Given the description of an element on the screen output the (x, y) to click on. 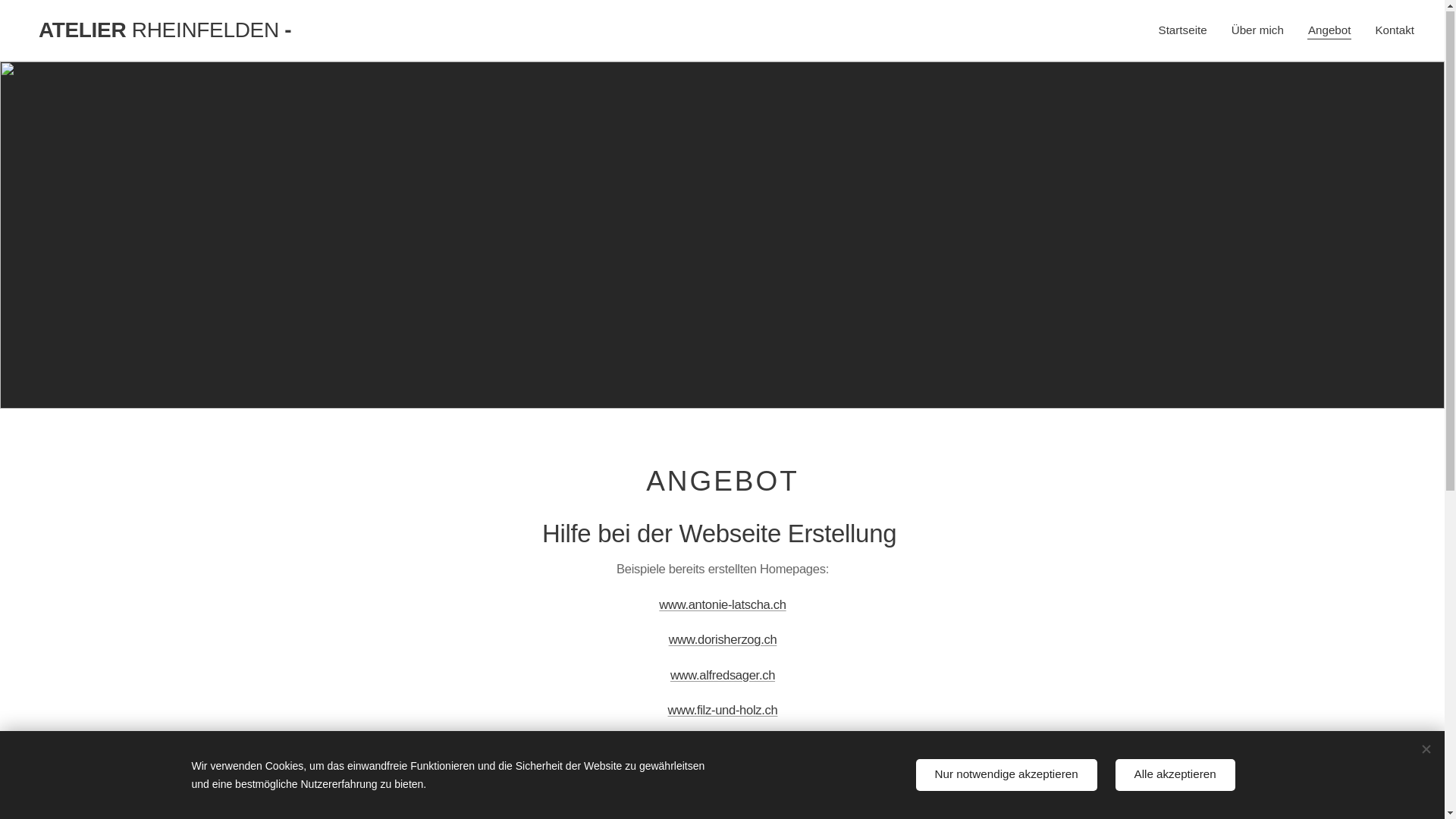
www.antonie-latscha.ch Element type: text (721, 605)
Angebot Element type: text (1329, 31)
Nur notwendige akzeptieren Element type: text (1006, 774)
www.dorisherzog.ch Element type: text (722, 640)
Alle akzeptieren Element type: text (1175, 774)
Startseite Element type: text (1186, 31)
www.filz-und-holz.ch Element type: text (722, 710)
ATELIER RHEINFELDEN -   Element type: text (193, 31)
Kontakt Element type: text (1388, 31)
www.alfredsager.ch Element type: text (721, 675)
